Given the description of an element on the screen output the (x, y) to click on. 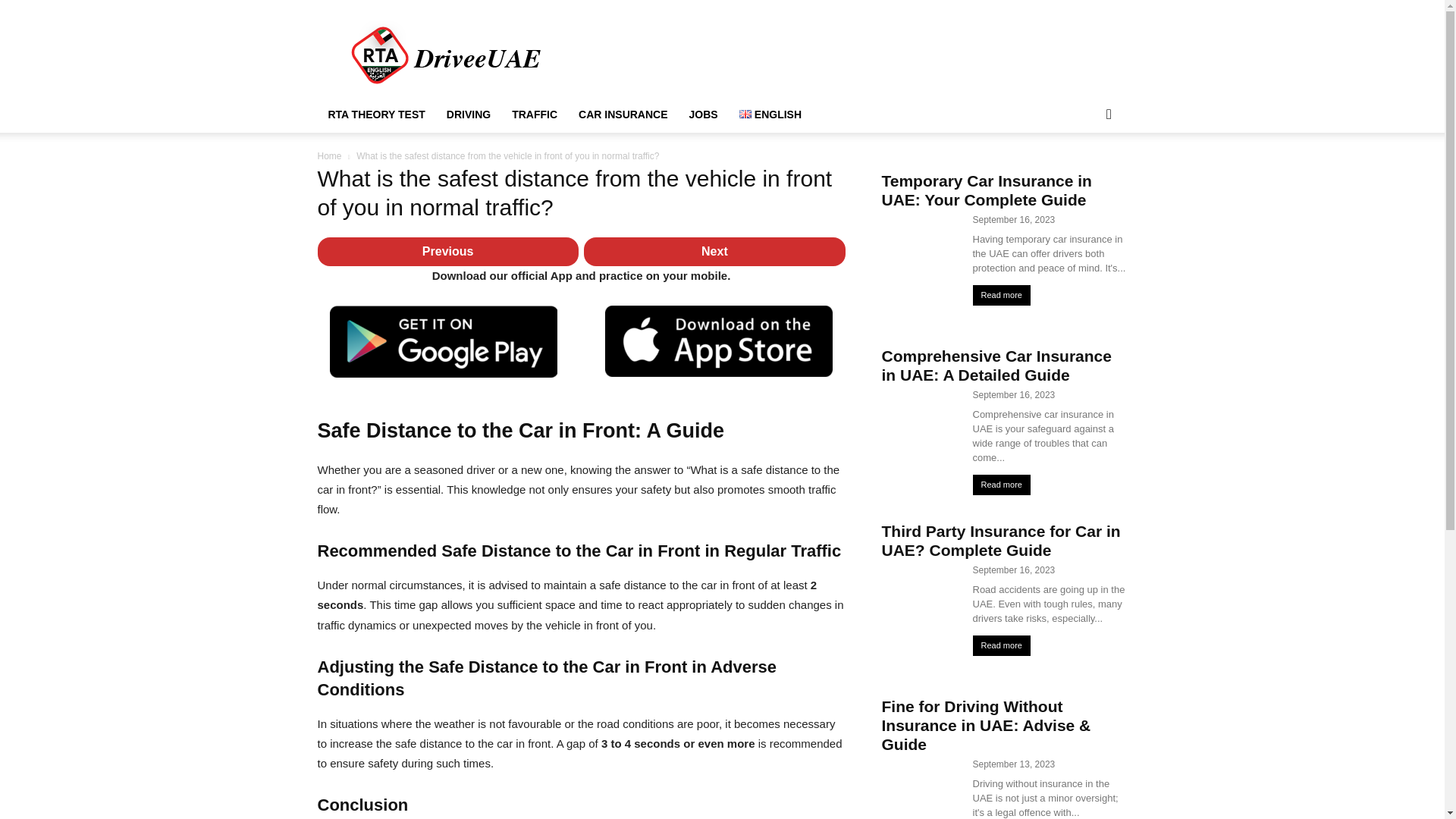
RTA THEORY TEST (376, 114)
Comprehensive Car Insurance in UAE: A Detailed Guide (995, 365)
Search (1085, 174)
Temporary Car Insurance in UAE: Your Complete Guide (985, 189)
JOBS (703, 114)
Home (328, 155)
Third Party Insurance for Car in UAE? Complete Guide (999, 540)
Previous (447, 251)
ENGLISH (770, 114)
